Given the description of an element on the screen output the (x, y) to click on. 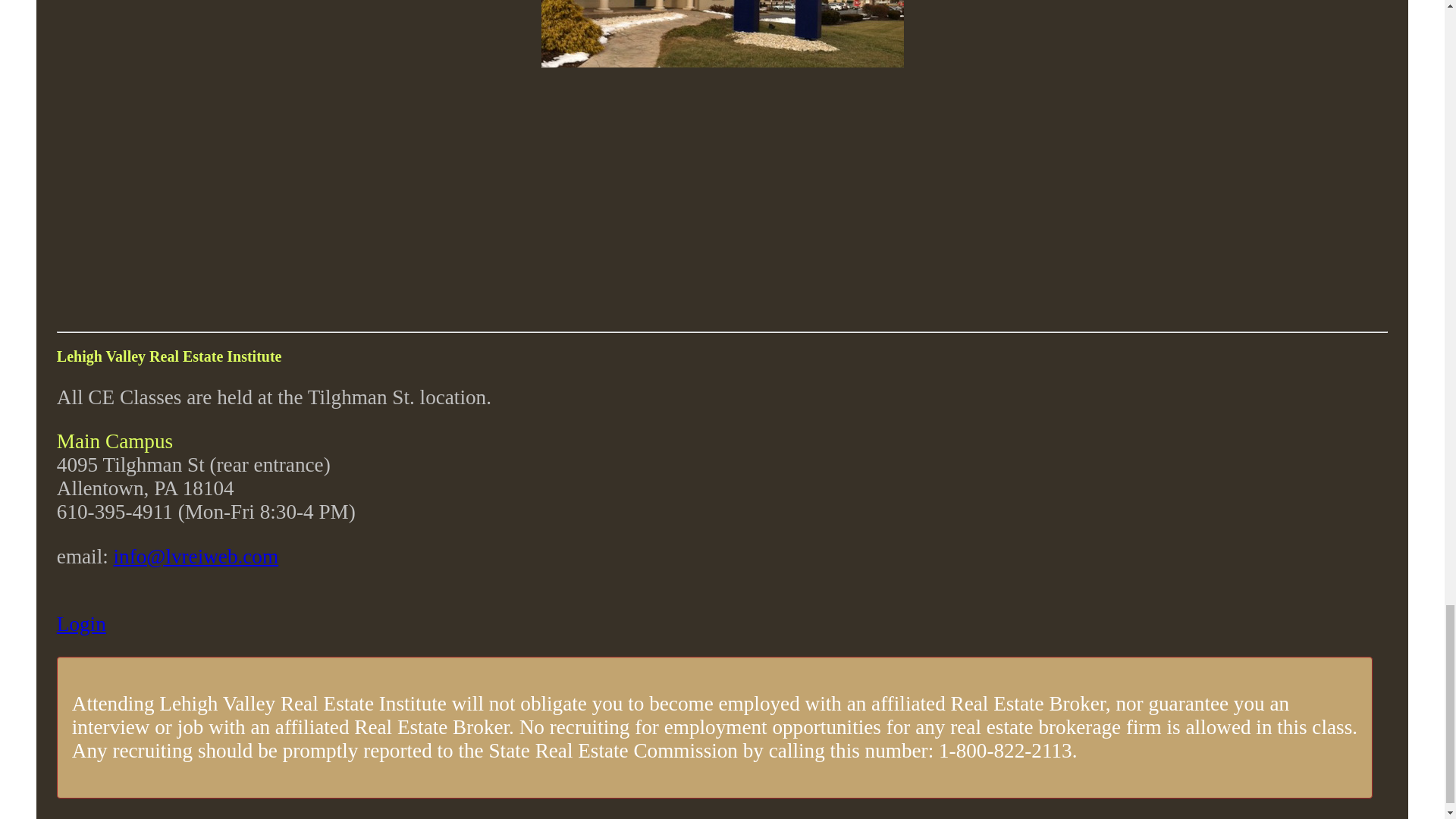
Login (81, 623)
